Given the description of an element on the screen output the (x, y) to click on. 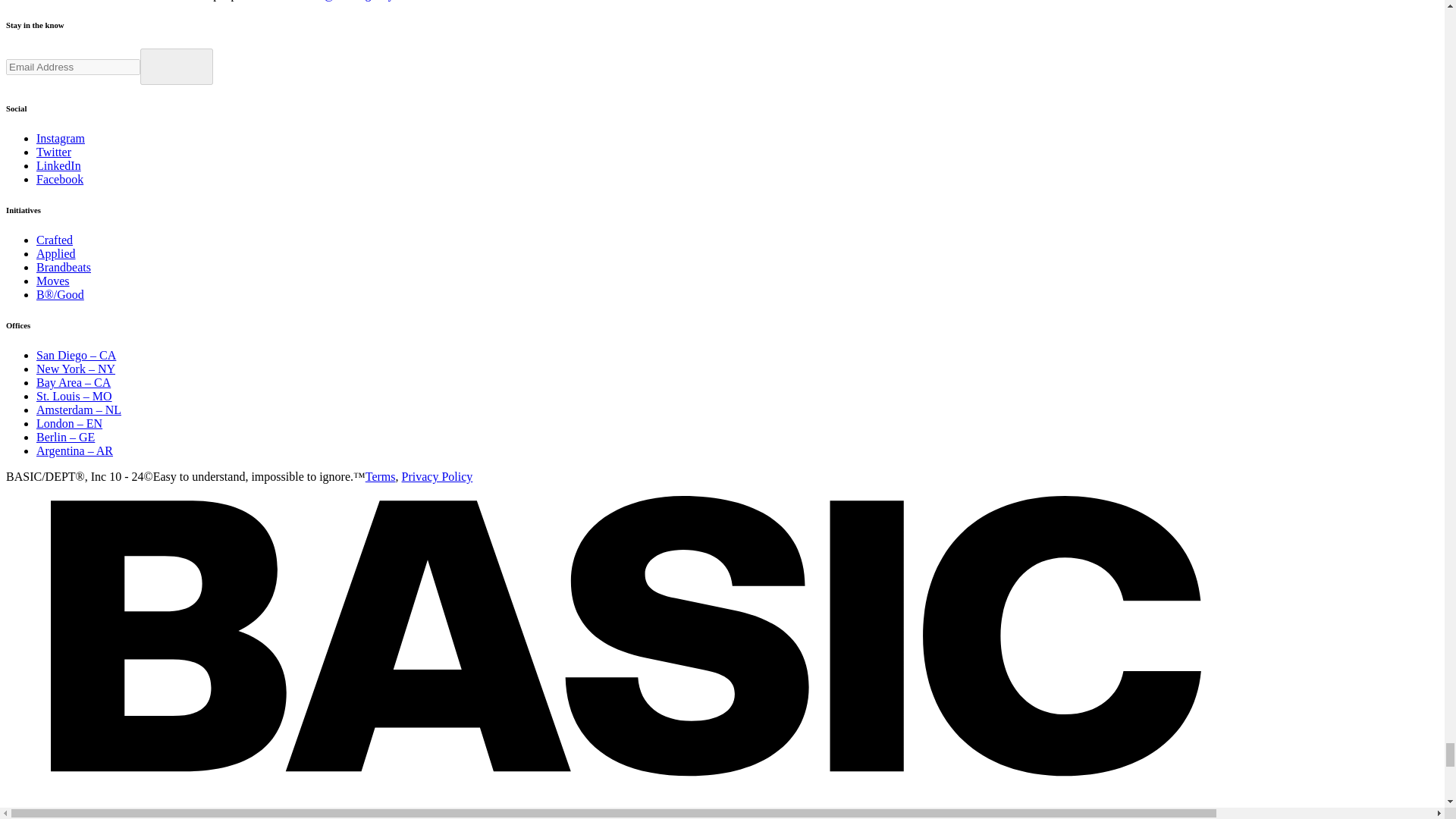
Twitter (53, 151)
Facebook (59, 178)
Submit (175, 66)
Instagram (60, 137)
LinkedIn (58, 164)
